Given the description of an element on the screen output the (x, y) to click on. 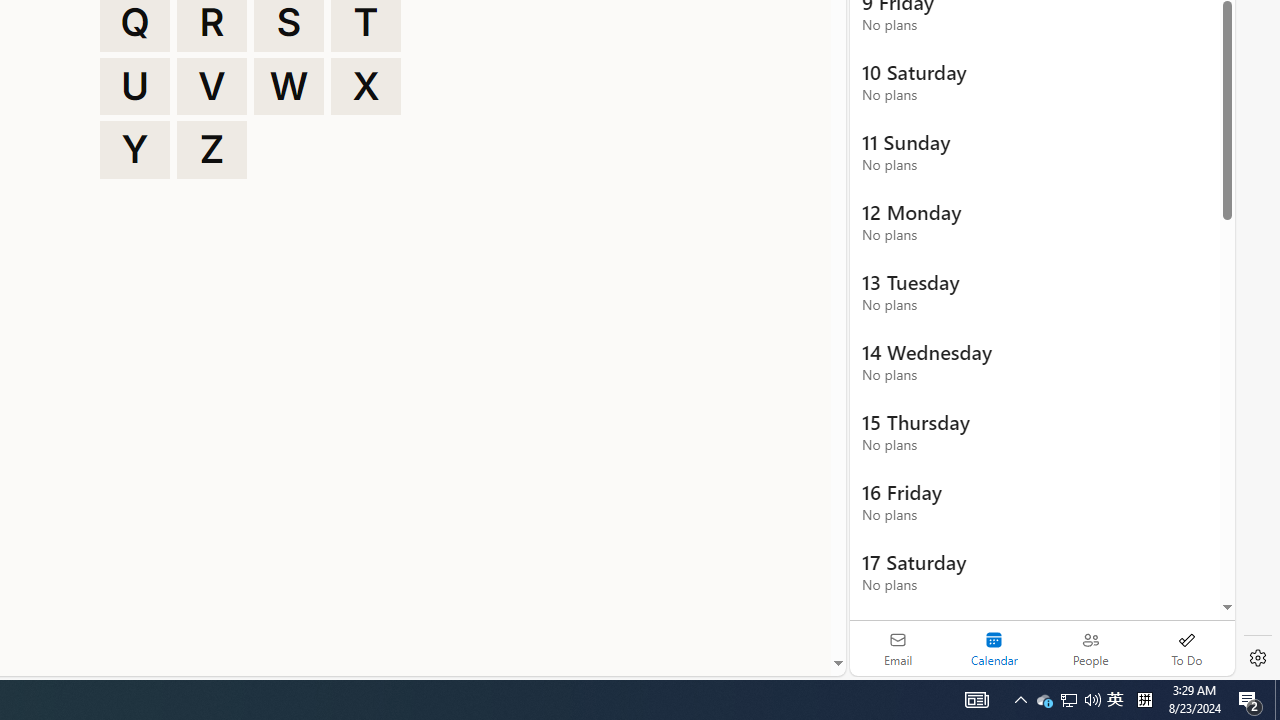
X (365, 85)
V (212, 85)
Z (212, 149)
W (289, 85)
U (134, 85)
